Given the description of an element on the screen output the (x, y) to click on. 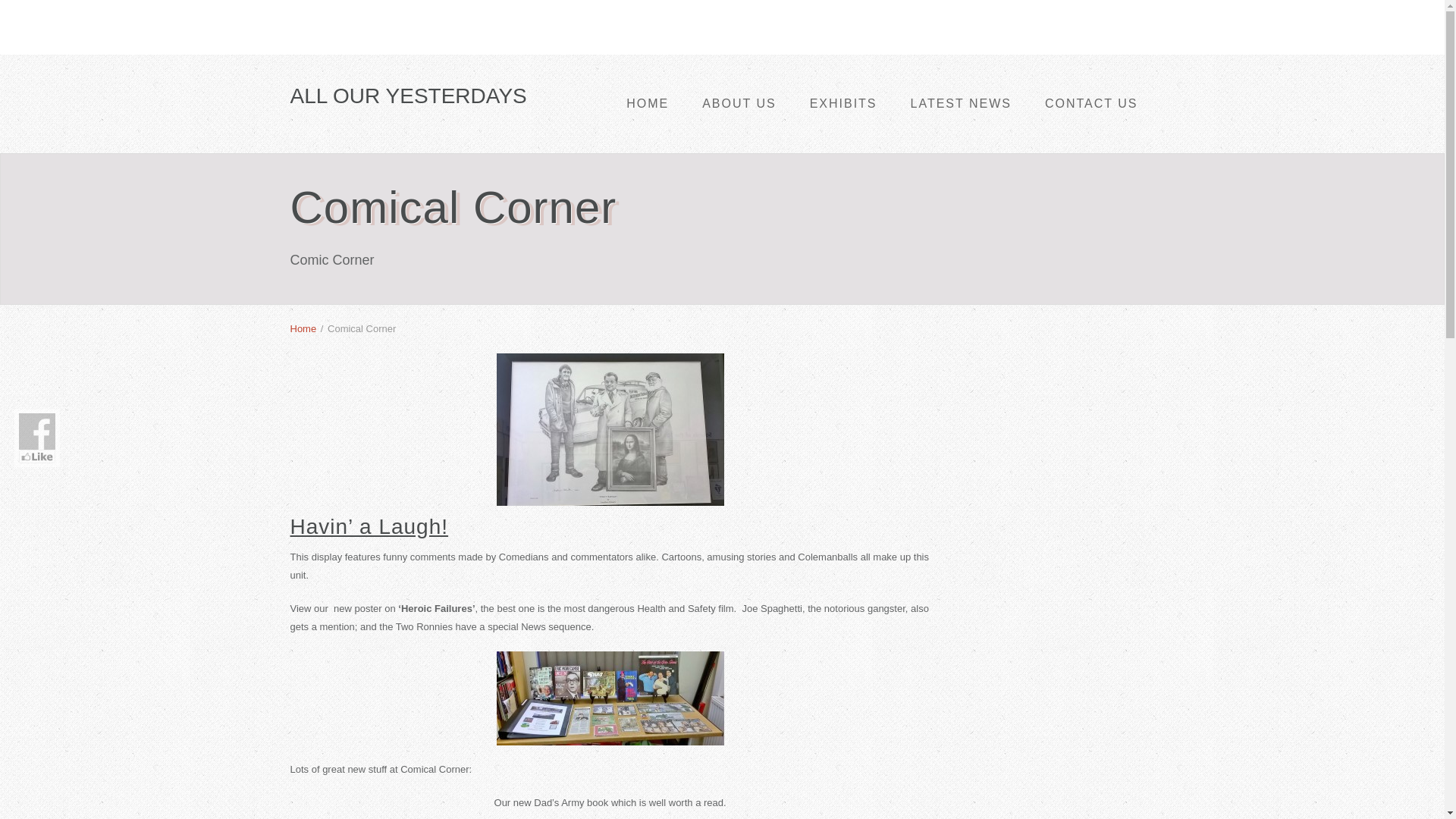
HOME (647, 103)
Visit Our Facebook Page (36, 431)
Home (302, 328)
CONTACT US (1090, 103)
ABOUT US (739, 103)
LATEST NEWS (960, 103)
All Our Yesterdays (407, 95)
ALL OUR YESTERDAYS (407, 95)
EXHIBITS (843, 103)
